Given the description of an element on the screen output the (x, y) to click on. 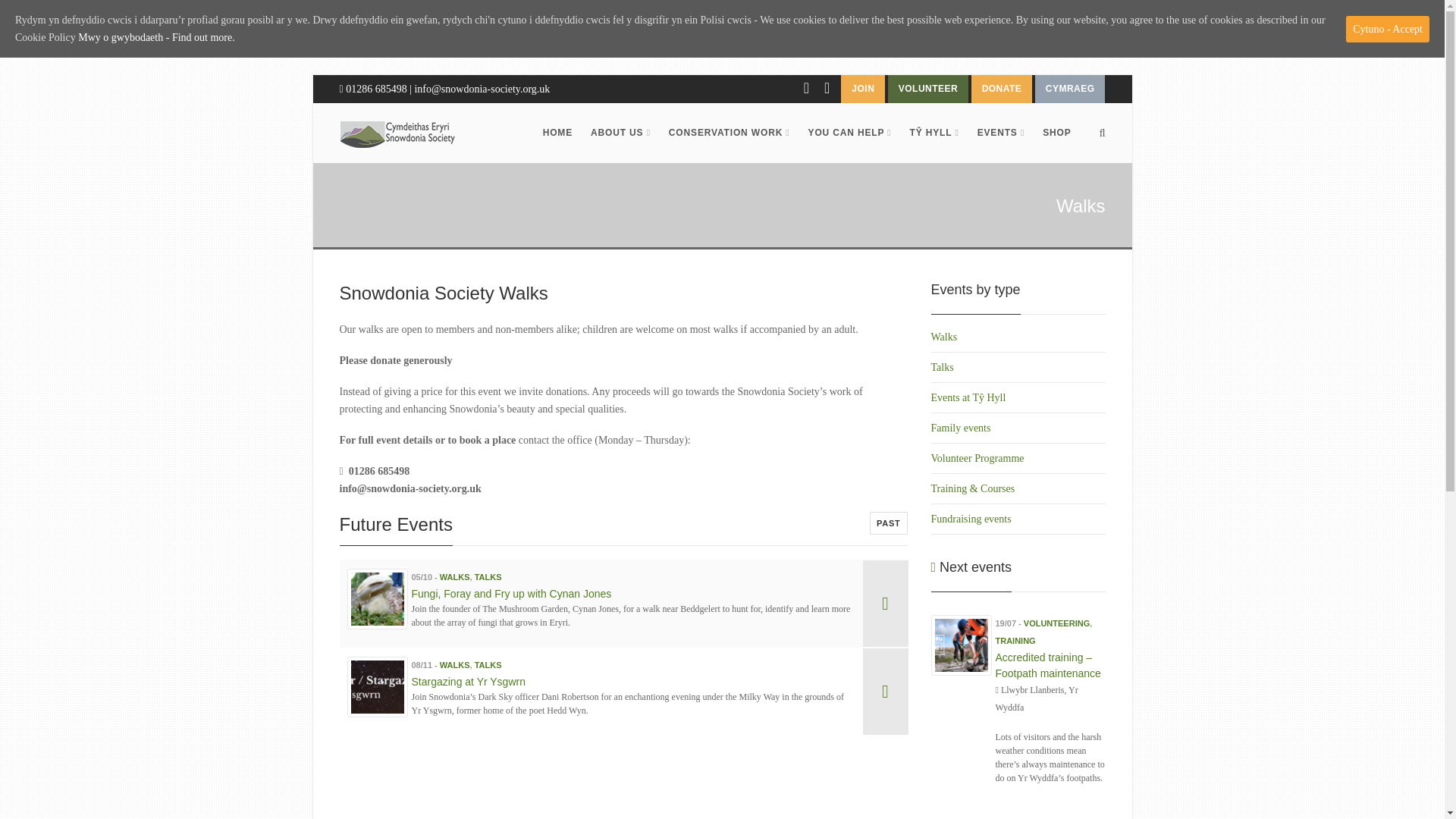
CONSERVATION WORK (729, 132)
YOU CAN HELP (850, 132)
VOLUNTEER (928, 89)
JOIN (863, 89)
DONATE (1001, 89)
ABOUT US (619, 132)
CYMRAEG (1070, 89)
Snowdonia Society (398, 132)
